Given the description of an element on the screen output the (x, y) to click on. 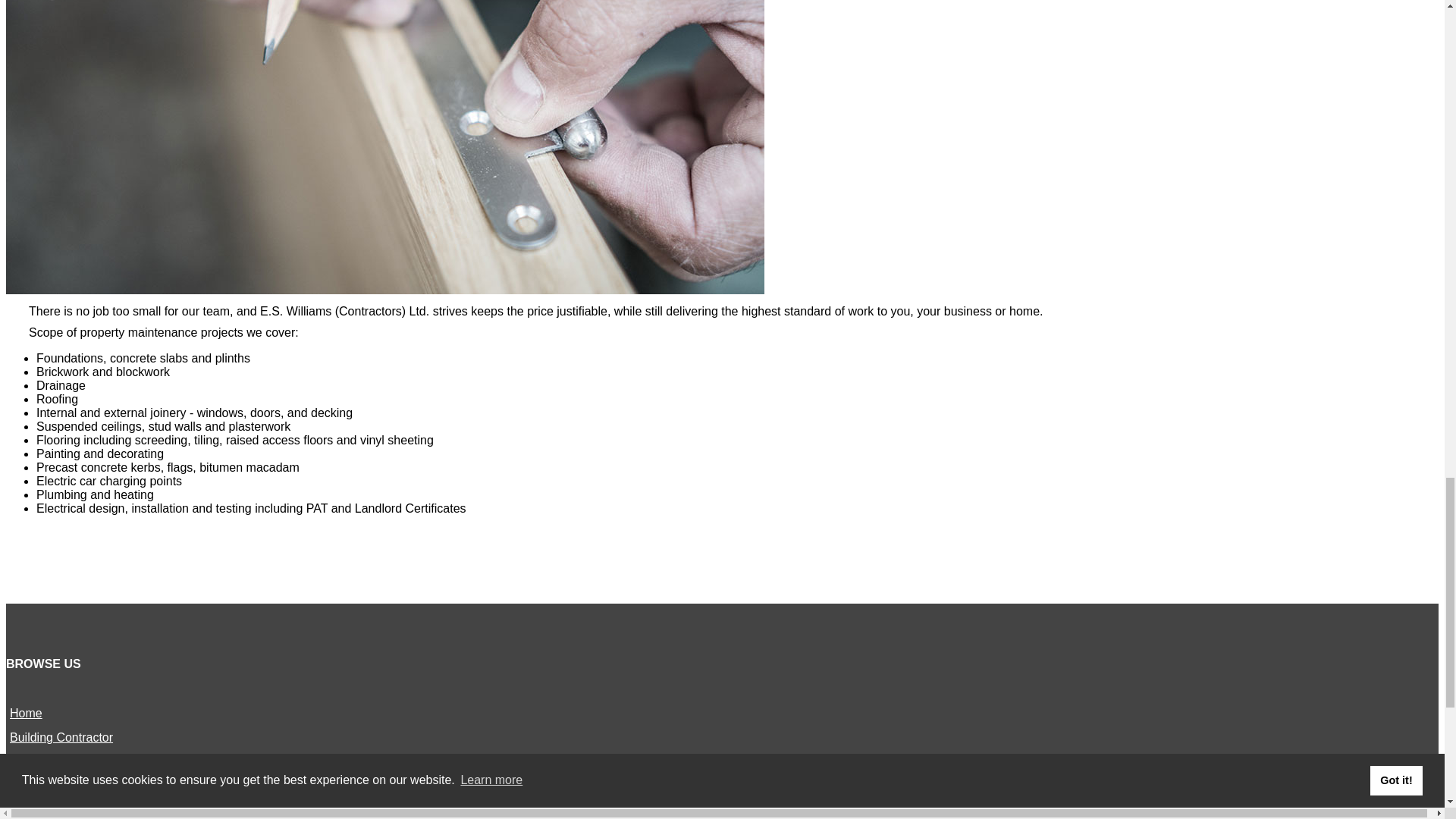
Property Maintenance (69, 785)
Contact (30, 809)
Civil Engineering (55, 761)
Home (26, 712)
Building Contractor (61, 737)
